Given the description of an element on the screen output the (x, y) to click on. 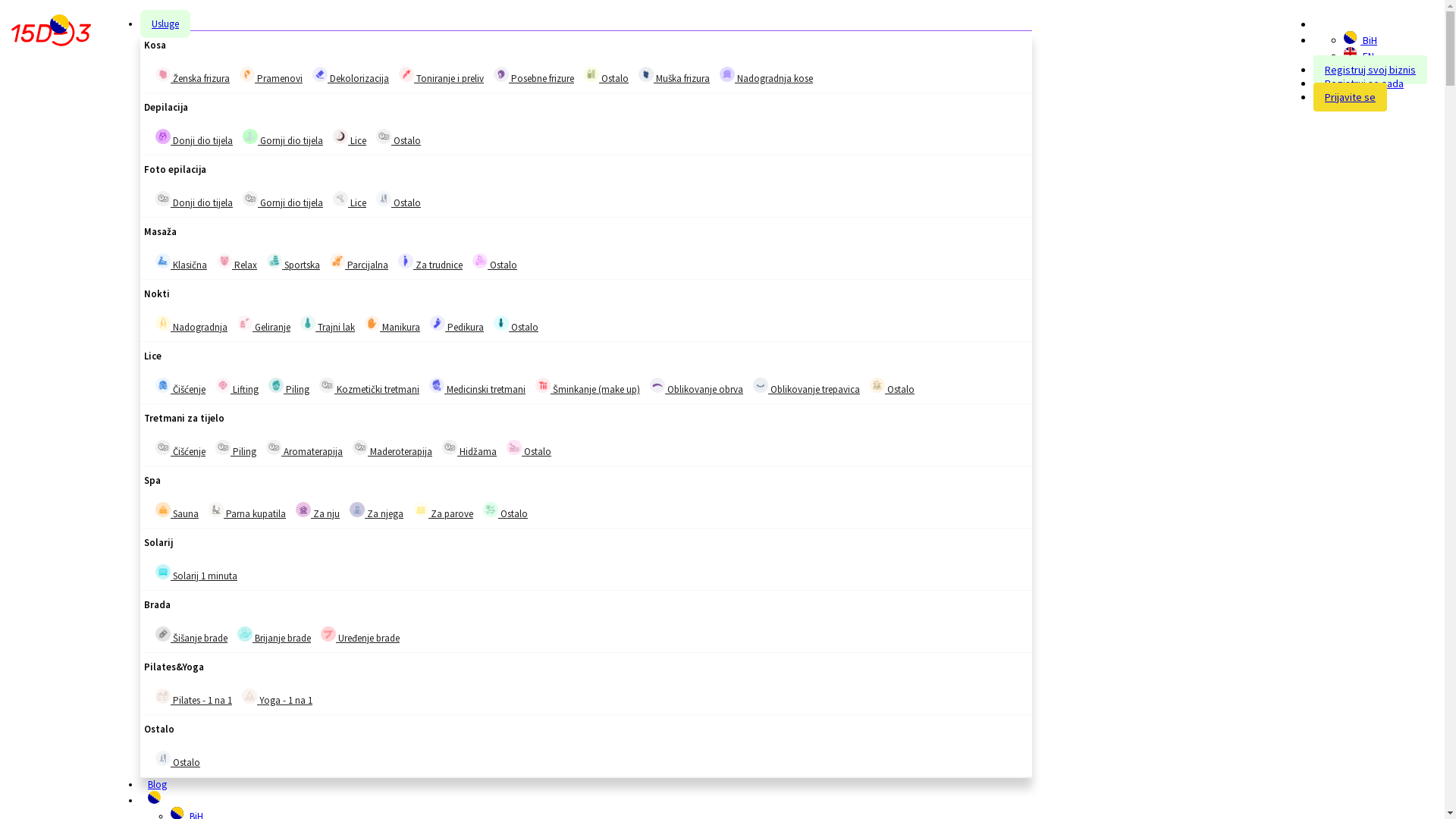
Gornji dio tijela Element type: hover (249, 136)
Pramenovi Element type: text (270, 75)
Za trudnice Element type: hover (405, 260)
Piling Element type: text (288, 386)
Ostalo Element type: text (505, 510)
Za trudnice Element type: text (430, 262)
Brijanje brade Element type: hover (244, 633)
Blog Element type: text (157, 784)
Ostalo Element type: hover (513, 447)
Pramenovi Element type: hover (246, 73)
Ostalo Element type: text (528, 448)
Brijanje brade Element type: text (273, 635)
Toniranje i preliv Element type: text (441, 75)
Aromaterapija Element type: text (304, 448)
Registruj svoj biznis Element type: text (1370, 69)
Parcijalna Element type: text (359, 262)
BiH Element type: text (1360, 40)
Dekolorizacija Element type: hover (319, 73)
Nadogradnja kose Element type: hover (726, 73)
Ostalo Element type: text (515, 324)
Ostalo Element type: hover (591, 73)
Ostalo Element type: text (494, 262)
Ostalo Element type: hover (162, 757)
Piling Element type: text (235, 448)
Ostalo Element type: text (892, 386)
Parna kupatila Element type: text (246, 510)
Za nju Element type: text (317, 510)
Toniranje i preliv Element type: hover (406, 73)
Relax Element type: text (236, 262)
Oblikovanje obrva Element type: text (696, 386)
Trajni lak Element type: text (327, 324)
Dekolorizacija Element type: text (350, 75)
Lice Element type: text (349, 137)
Donji dio tijela Element type: text (193, 137)
Oblikovanje trepavica Element type: hover (760, 384)
Pilates - 1 na 1 Element type: hover (162, 695)
Sauna Element type: text (176, 510)
Ostalo Element type: hover (490, 509)
EN Element type: text (1358, 55)
Donji dio tijela Element type: hover (162, 136)
Manikura Element type: text (391, 324)
Pedikura Element type: text (456, 324)
Za nju Element type: hover (302, 509)
Ostalo Element type: hover (479, 260)
Solarij 1 minuta Element type: hover (162, 571)
Posebne frizure Element type: text (533, 75)
Prijavite se Element type: text (1349, 96)
Donji dio tijela Element type: text (193, 199)
Maderoterapija Element type: hover (359, 447)
Aromaterapija Element type: hover (273, 447)
Za parove Element type: text (442, 510)
Maderoterapija Element type: text (392, 448)
Lice Element type: hover (340, 198)
Yoga - 1 na 1 Element type: hover (249, 695)
Relax Element type: hover (224, 260)
Geliranje Element type: hover (244, 322)
Solarij 1 minuta Element type: text (196, 572)
Ostalo Element type: text (606, 75)
Gornji dio tijela Element type: hover (249, 198)
Lice Element type: hover (340, 136)
Sportska Element type: text (293, 262)
Medicinski tretmani Element type: hover (436, 384)
Oblikovanje obrva Element type: hover (657, 384)
Za njega Element type: text (376, 510)
Ostalo Element type: hover (383, 136)
Ostalo Element type: hover (876, 384)
Trajni lak Element type: hover (307, 322)
Sauna Element type: hover (162, 509)
Za njega Element type: hover (356, 509)
Nadogradnja kose Element type: text (765, 75)
Piling Element type: hover (275, 384)
Ostalo Element type: text (398, 199)
Geliranje Element type: text (263, 324)
Medicinski tretmani Element type: text (477, 386)
Za parove Element type: hover (420, 509)
Nadogradnja Element type: hover (162, 322)
Piling Element type: hover (222, 447)
Usluge Element type: text (165, 23)
Ostalo Element type: text (398, 137)
Ostalo Element type: hover (500, 322)
Ostalo Element type: hover (383, 198)
Gornji dio tijela Element type: text (282, 199)
EN Element type: hover (1349, 53)
Parcijalna Element type: hover (337, 260)
Nadogradnja Element type: text (191, 324)
Manikura Element type: hover (371, 322)
15do3 - Online rezervacija termina Element type: hover (51, 32)
Sportska Element type: hover (274, 260)
Lifting Element type: text (236, 386)
Donji dio tijela Element type: hover (162, 198)
Ostalo Element type: text (177, 759)
Gornji dio tijela Element type: text (282, 137)
Lice Element type: text (349, 199)
Pilates - 1 na 1 Element type: text (193, 697)
Pedikura Element type: hover (437, 322)
Registruj se sada Element type: text (1364, 83)
Posebne frizure Element type: hover (500, 73)
Parna kupatila Element type: hover (215, 509)
Oblikovanje trepavica Element type: text (806, 386)
BiH Element type: hover (1349, 37)
Yoga - 1 na 1 Element type: text (277, 697)
Lifting Element type: hover (222, 384)
